Given the description of an element on the screen output the (x, y) to click on. 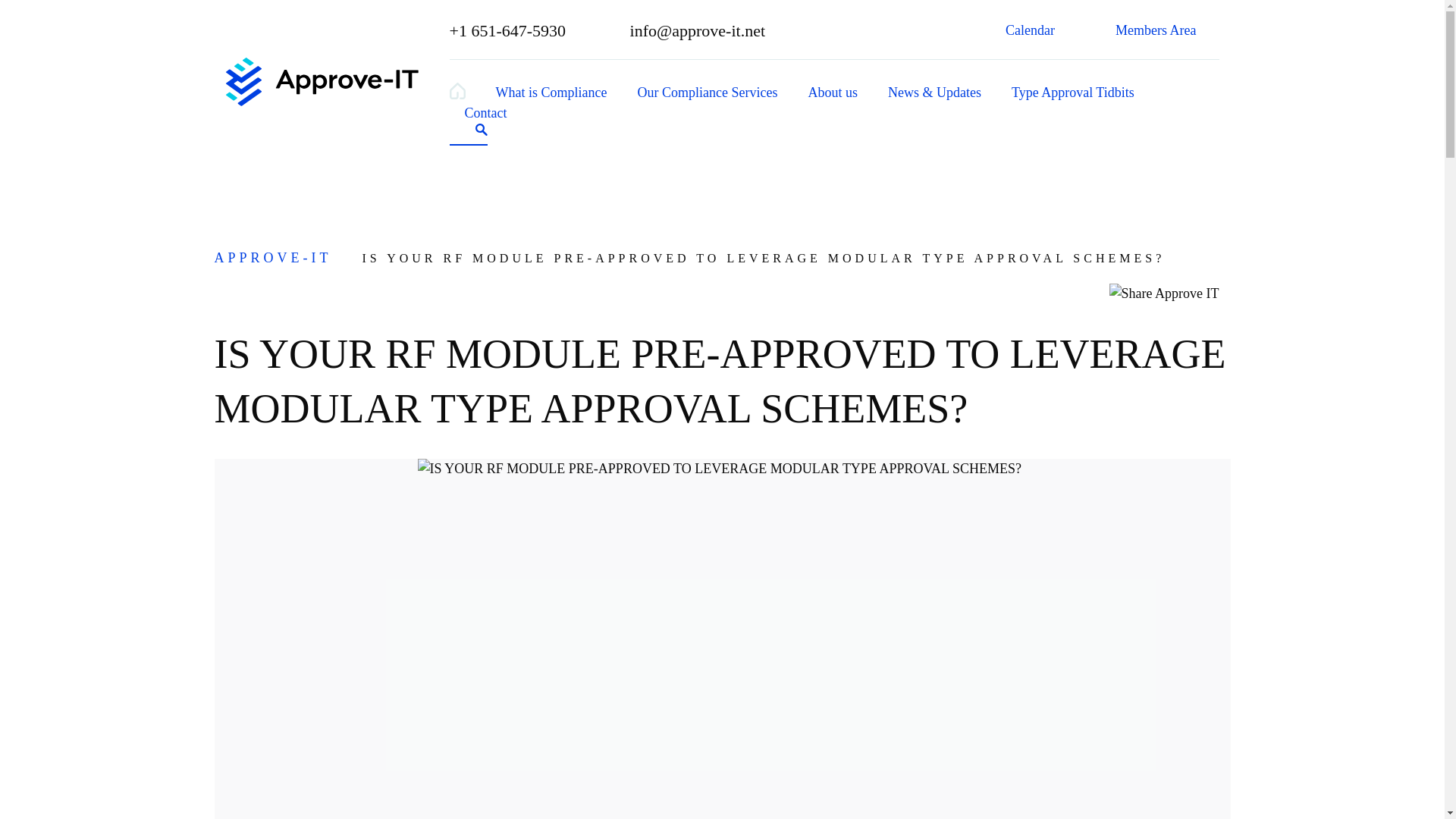
Contact (485, 112)
Type Approval Tidbits (1072, 92)
What is Compliance (551, 92)
Members Area (1166, 30)
APPROVE-IT (283, 257)
About us (832, 92)
Our Compliance Services (707, 92)
Calendar (1041, 30)
